Given the description of an element on the screen output the (x, y) to click on. 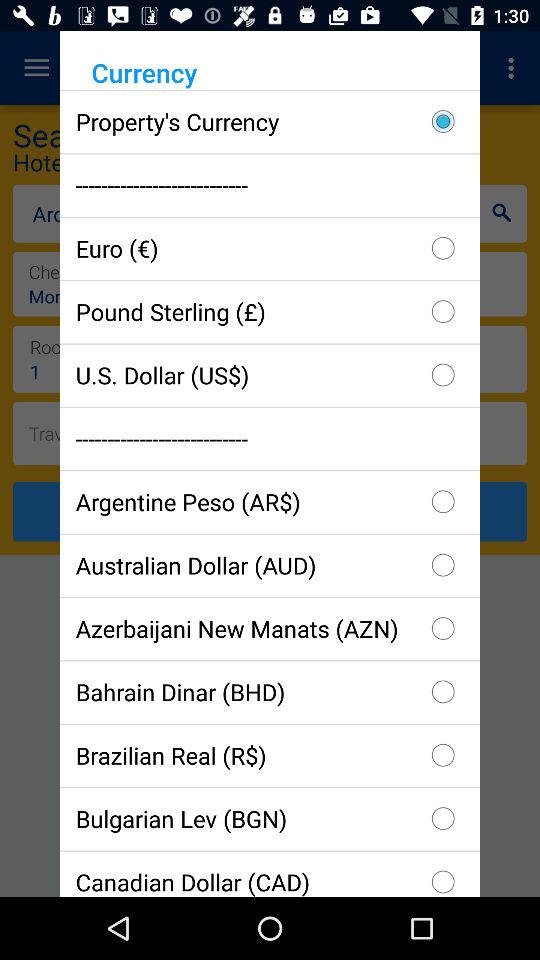
jump until u s dollar (270, 374)
